Given the description of an element on the screen output the (x, y) to click on. 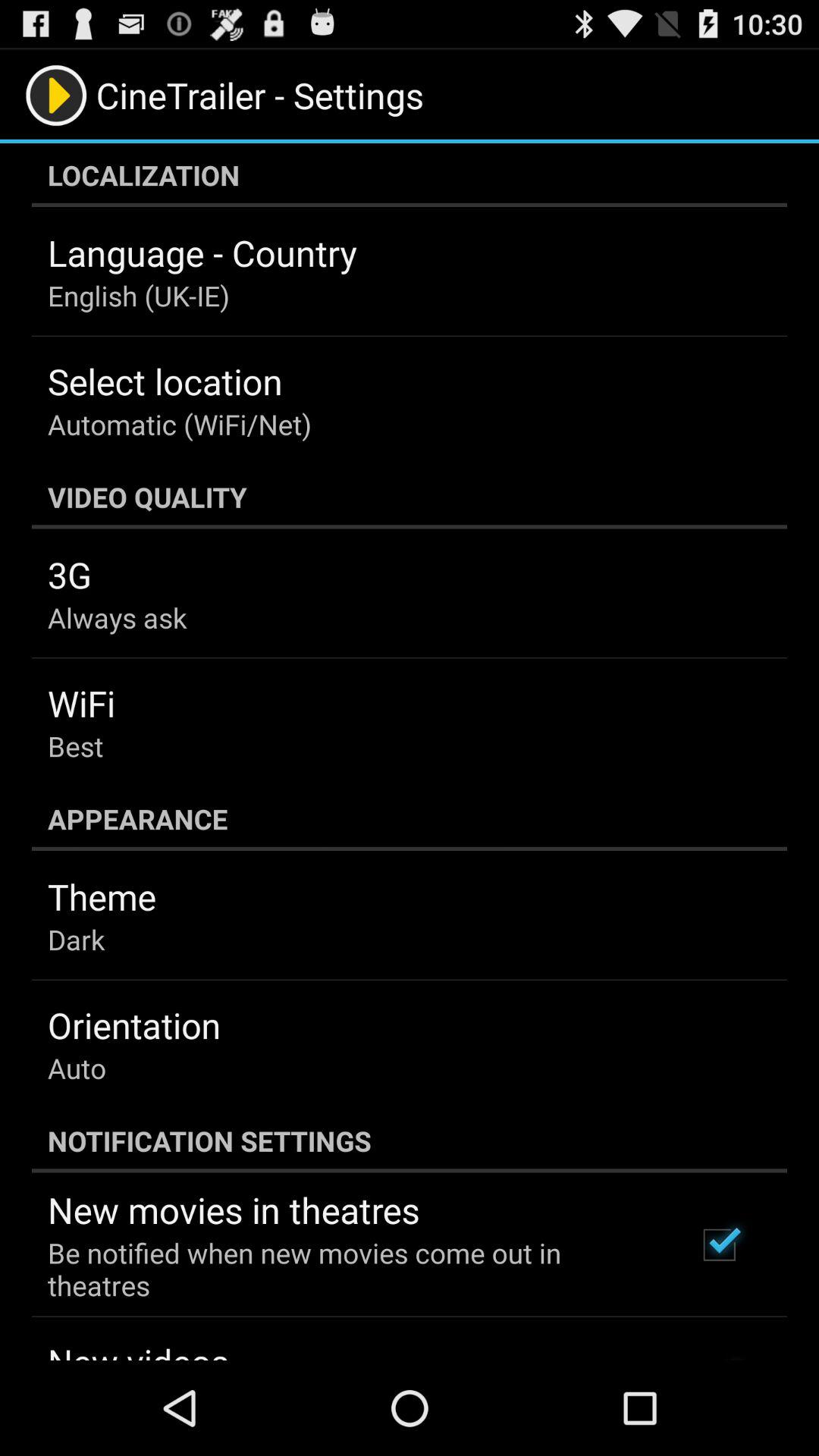
click the english (uk-ie) item (138, 295)
